Given the description of an element on the screen output the (x, y) to click on. 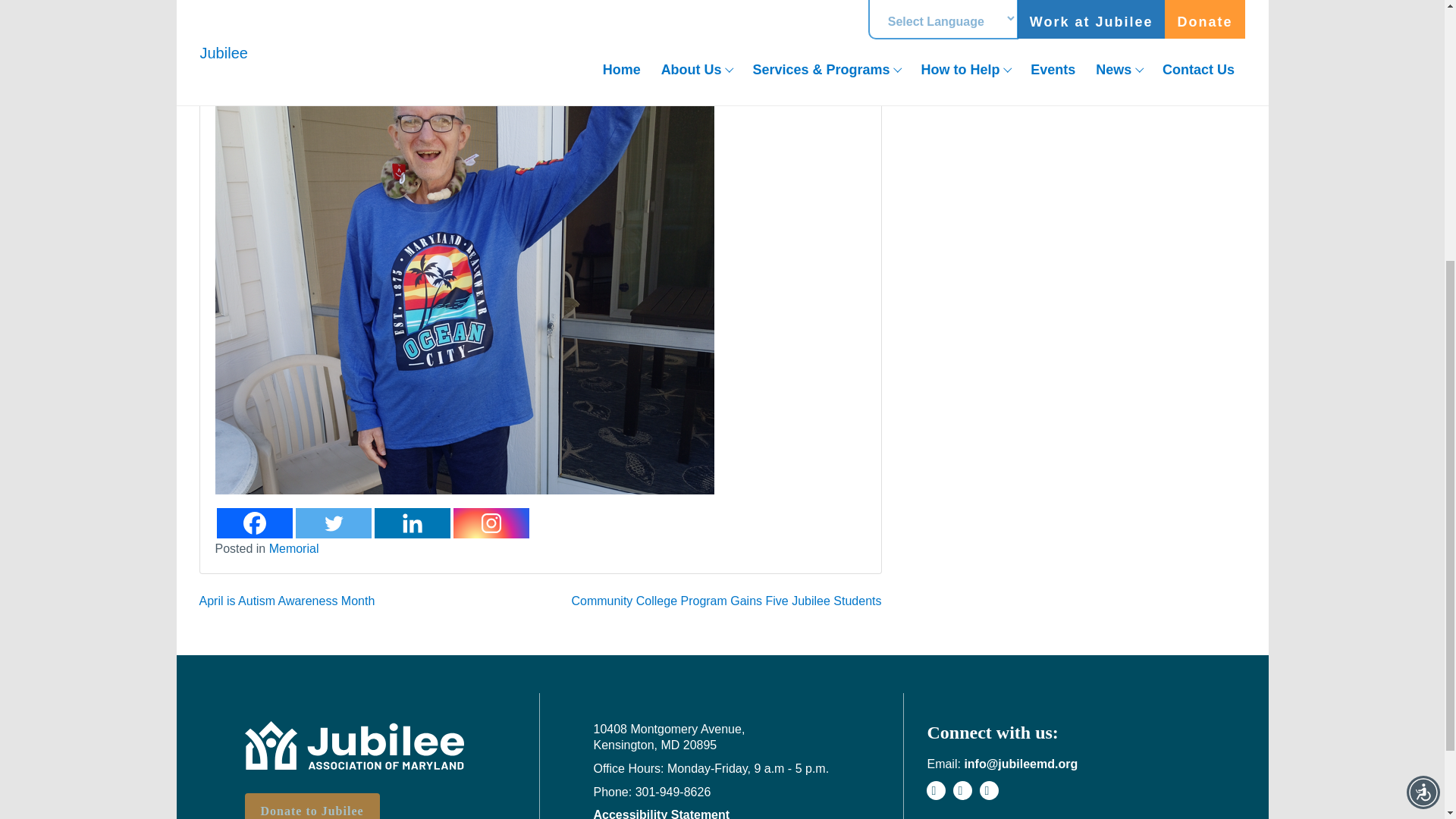
Accessibility Menu (1422, 374)
